Given the description of an element on the screen output the (x, y) to click on. 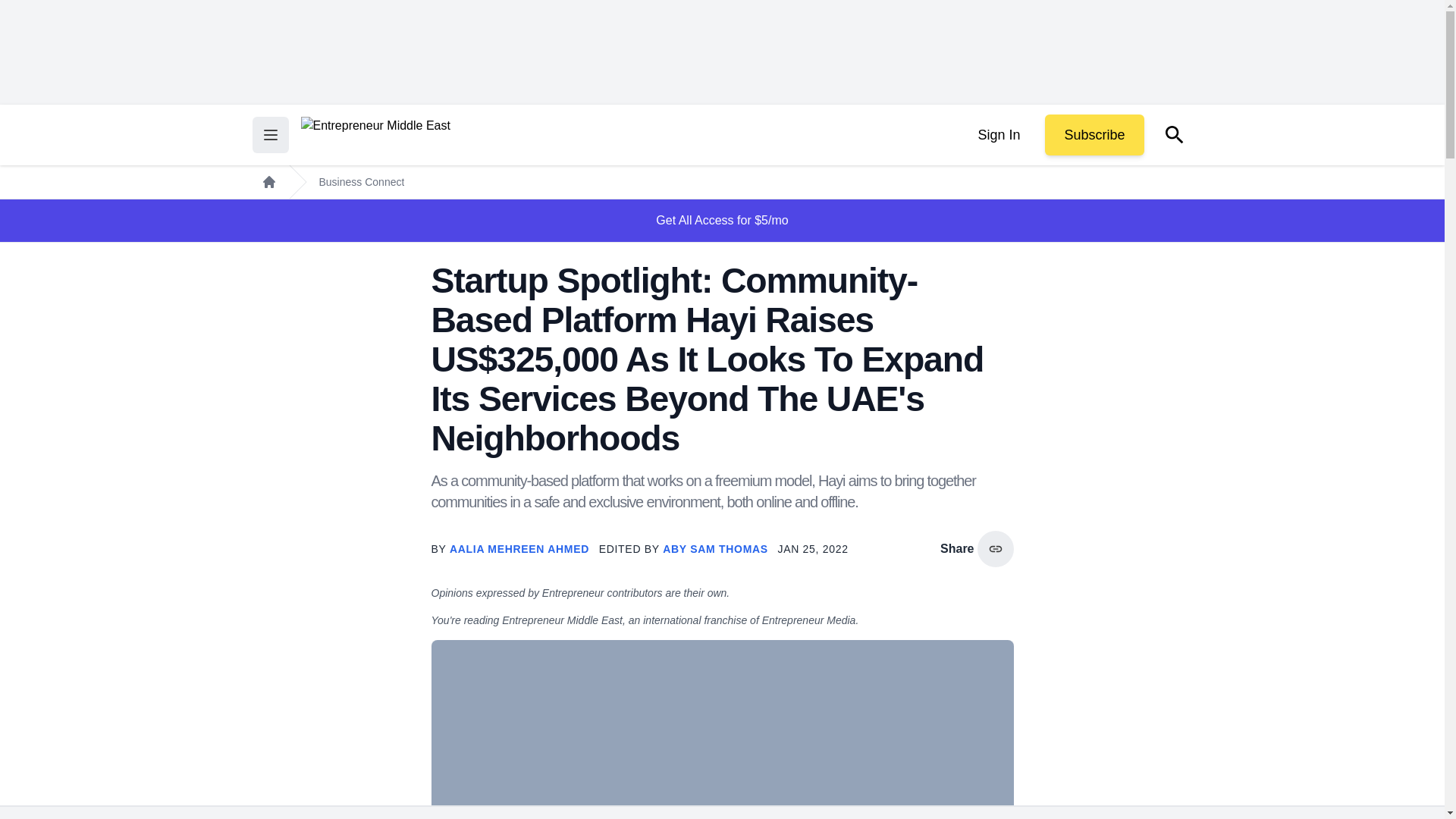
copy (994, 548)
Sign In (998, 134)
Subscribe (1093, 134)
Return to the home page (374, 135)
